Given the description of an element on the screen output the (x, y) to click on. 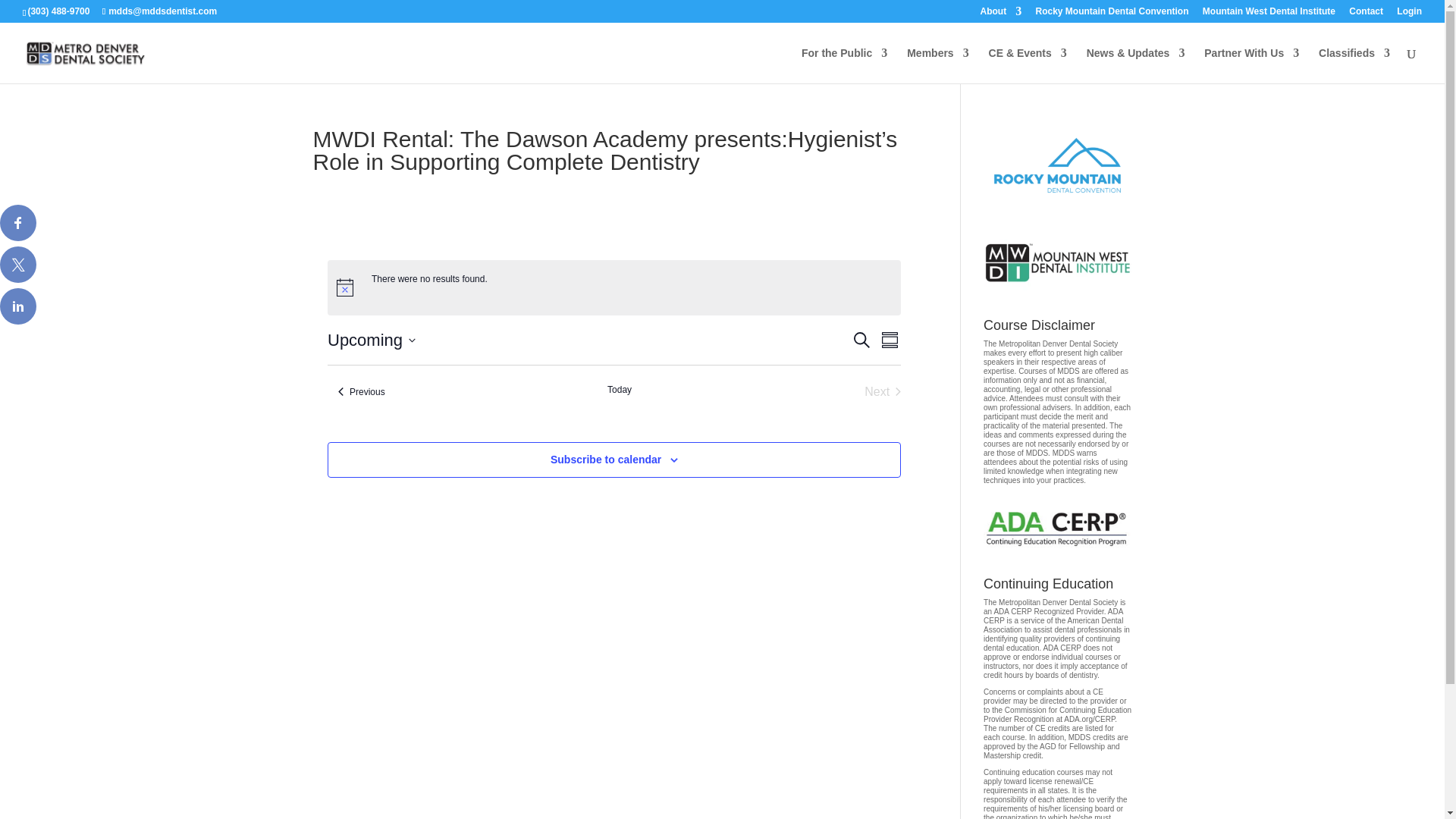
Next Events (882, 392)
Partner With Us (1251, 65)
Click to select today's date (619, 392)
Rocky Mountain Dental Convention (1112, 14)
Click to toggle datepicker (370, 339)
Members (937, 65)
For the Public (844, 65)
Previous Events (361, 392)
Login (1409, 14)
About (1000, 14)
Contact (1366, 14)
Mountain West Dental Institute (1268, 14)
